Given the description of an element on the screen output the (x, y) to click on. 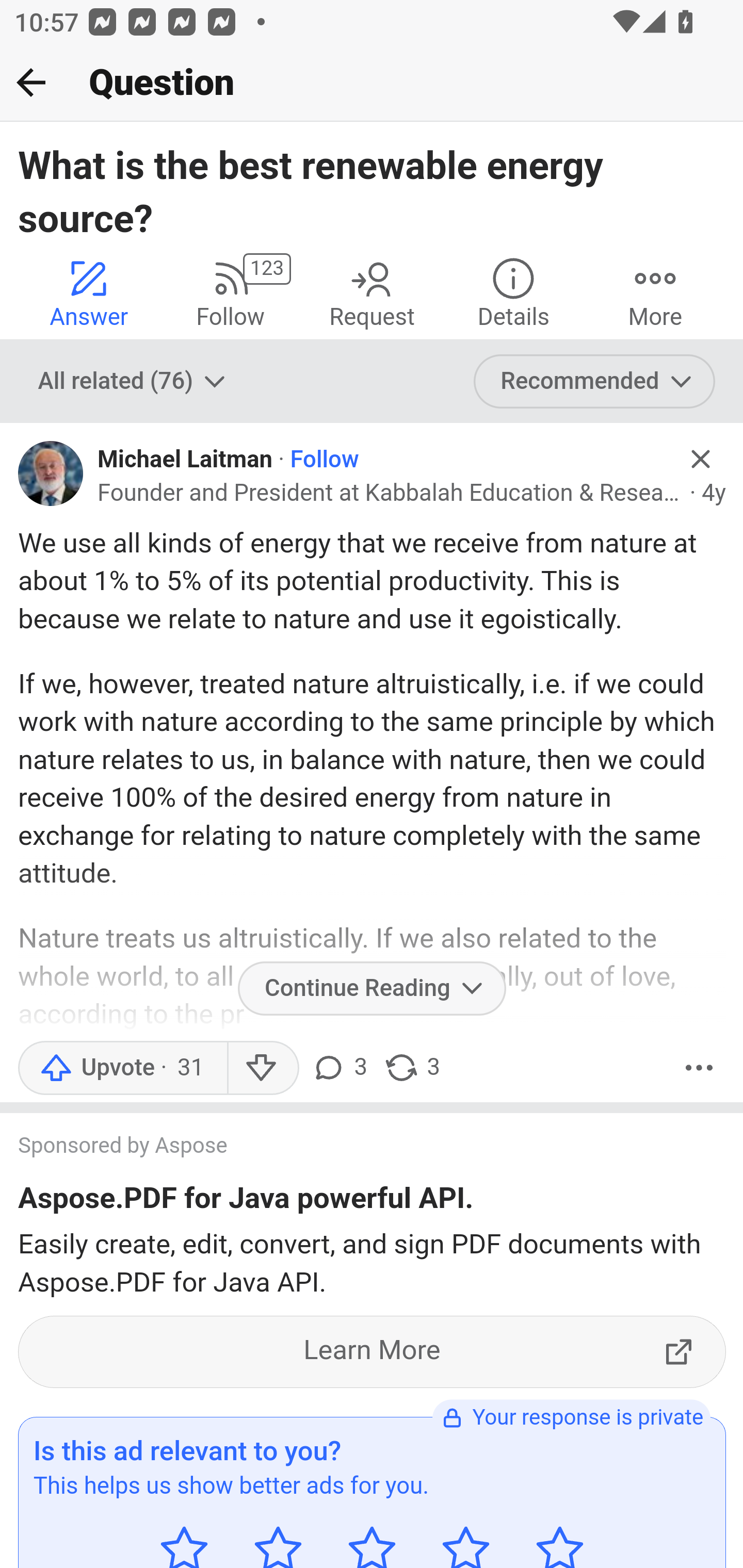
Back Question (371, 82)
Back (30, 82)
Answer (88, 292)
123 Follow (230, 292)
Request (371, 292)
Details (513, 292)
More (655, 292)
All related (76) (133, 381)
Recommended (594, 381)
Hide (700, 459)
Profile photo for Michael Laitman (50, 473)
Michael Laitman (185, 459)
Follow (323, 459)
4y 4 y (713, 493)
Continue Reading (371, 988)
Upvote (122, 1067)
Downvote (262, 1067)
3 comments (338, 1067)
3 shares (411, 1067)
More (699, 1067)
Sponsored by Aspose (352, 1146)
Aspose.PDF for Java powerful API. (245, 1201)
Learn More ExternalLink (372, 1351)
